Given the description of an element on the screen output the (x, y) to click on. 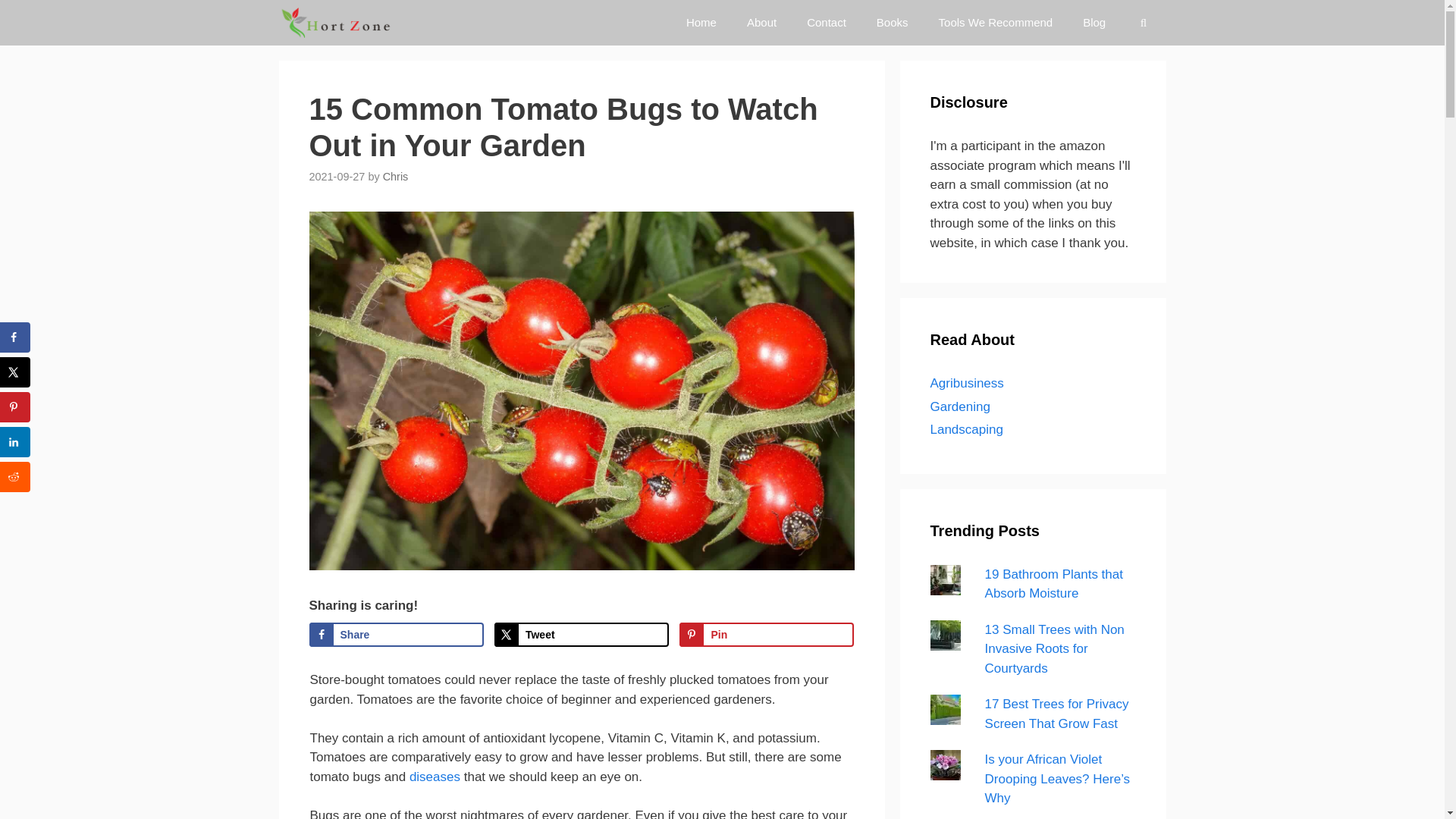
View all posts by Chris (395, 176)
Gardening (960, 405)
17 Best Trees for Privacy Screen That Grow Fast (1057, 713)
Tweet (581, 634)
Blog (1094, 22)
Chris (395, 176)
Tools We Recommend (995, 22)
19 Bathroom Plants that Absorb Moisture (1053, 584)
Hort Zone (336, 22)
Pin (766, 634)
